Given the description of an element on the screen output the (x, y) to click on. 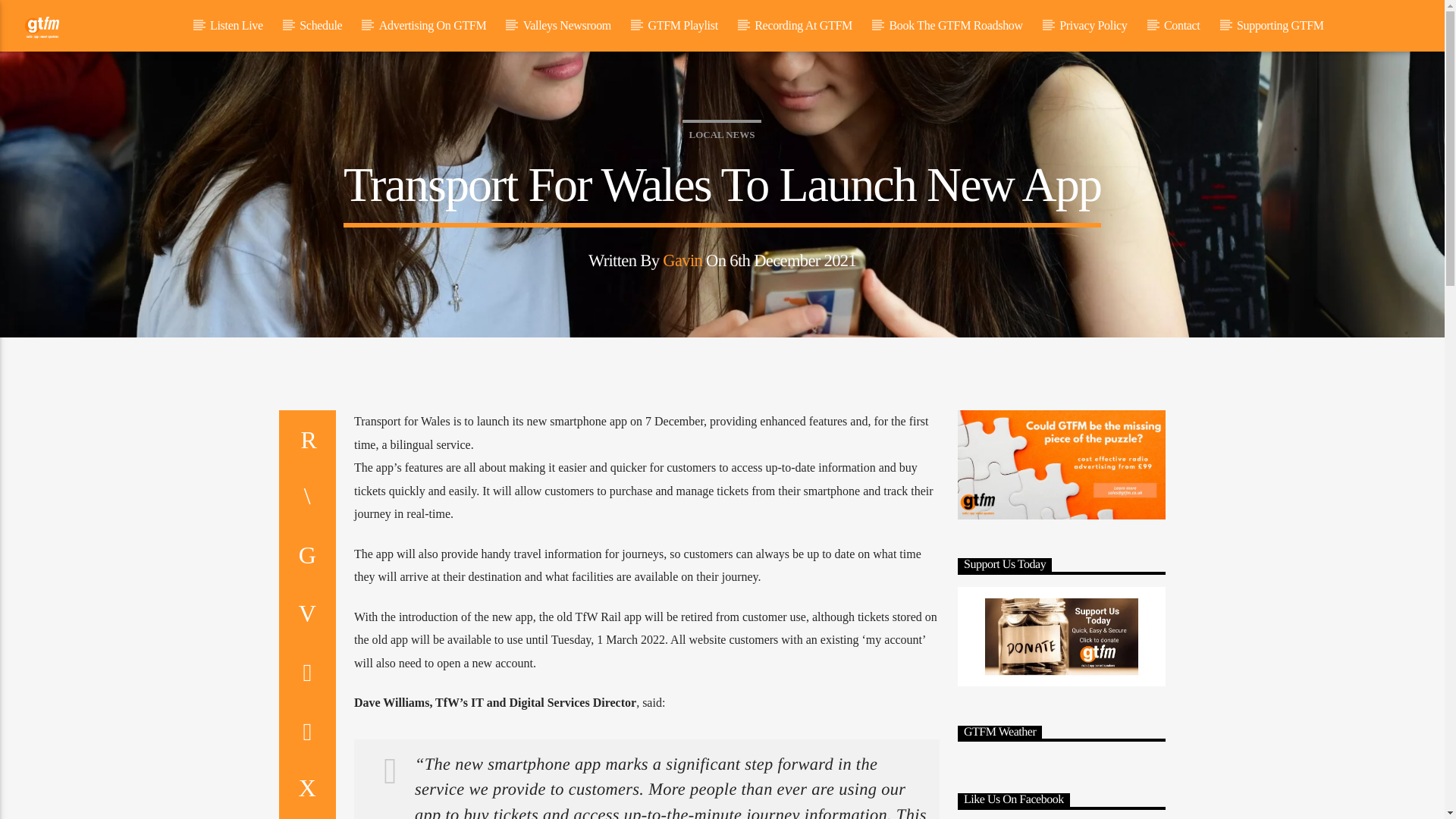
Schedule (320, 25)
Listen Live (237, 25)
Book The GTFM Roadshow (955, 25)
Valleys Newsroom (566, 25)
Contact (1182, 25)
Privacy Policy (1093, 25)
Recording At GTFM (803, 25)
GTFM Playlist (682, 25)
Posts by Gavin (681, 260)
